Given the description of an element on the screen output the (x, y) to click on. 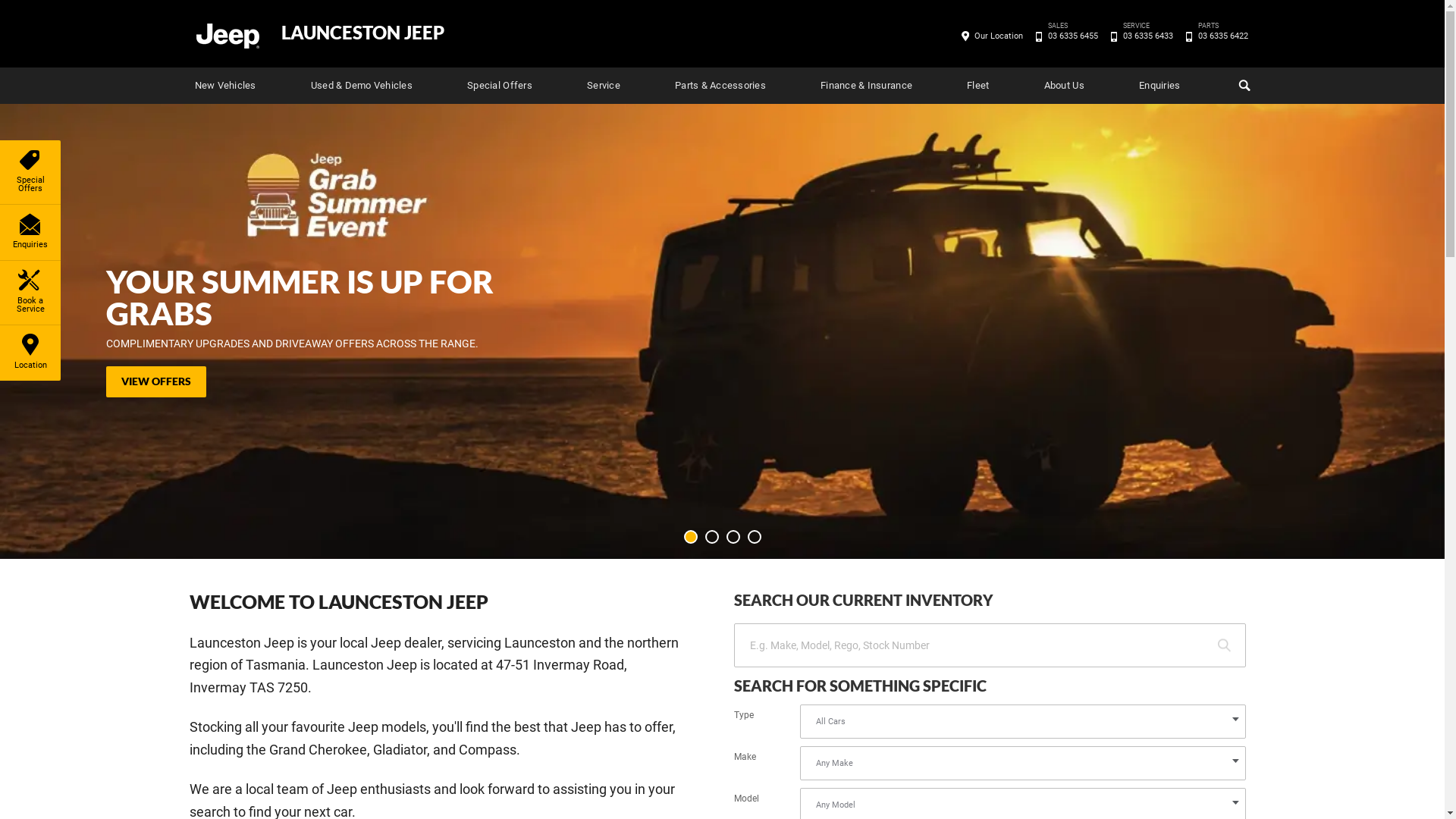
About Us Element type: text (1064, 85)
Used & Demo Vehicles Element type: text (361, 85)
Our Location Element type: text (998, 35)
SALES
03 6335 6455 Element type: text (1071, 35)
Fleet Element type: text (977, 85)
Service Element type: text (603, 85)
Parts & Accessories Element type: text (719, 85)
LAUNCESTON JEEP Element type: text (361, 32)
Enquiries Element type: text (30, 232)
Location Element type: text (30, 352)
Launceston Jeep Element type: hover (226, 34)
Special Offers Element type: text (30, 171)
Book a Service Element type: text (30, 292)
SEARCH FOR CARS Element type: text (1223, 645)
Special Offers Element type: text (499, 85)
VIEW OFFERS Element type: text (156, 381)
New Vehicles Element type: text (224, 85)
PARTS
03 6335 6422 Element type: text (1222, 35)
Search Element type: text (1241, 85)
SERVICE
03 6335 6433 Element type: text (1147, 35)
Enquiries Element type: text (1159, 85)
Finance & Insurance Element type: text (866, 85)
